Given the description of an element on the screen output the (x, y) to click on. 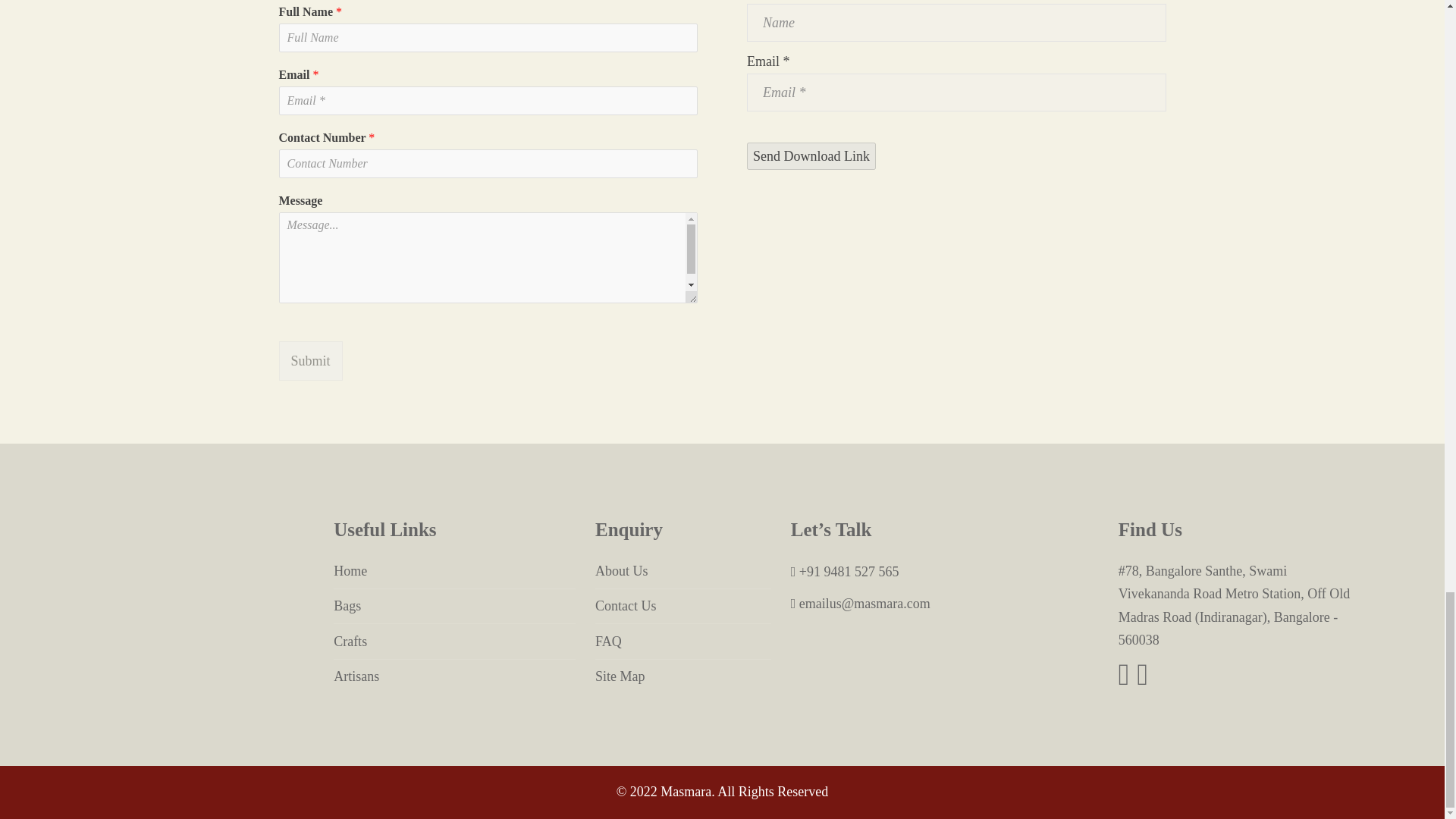
Home (454, 571)
Send Download Link (811, 156)
Submit (310, 361)
Send Download Link (811, 156)
